Given the description of an element on the screen output the (x, y) to click on. 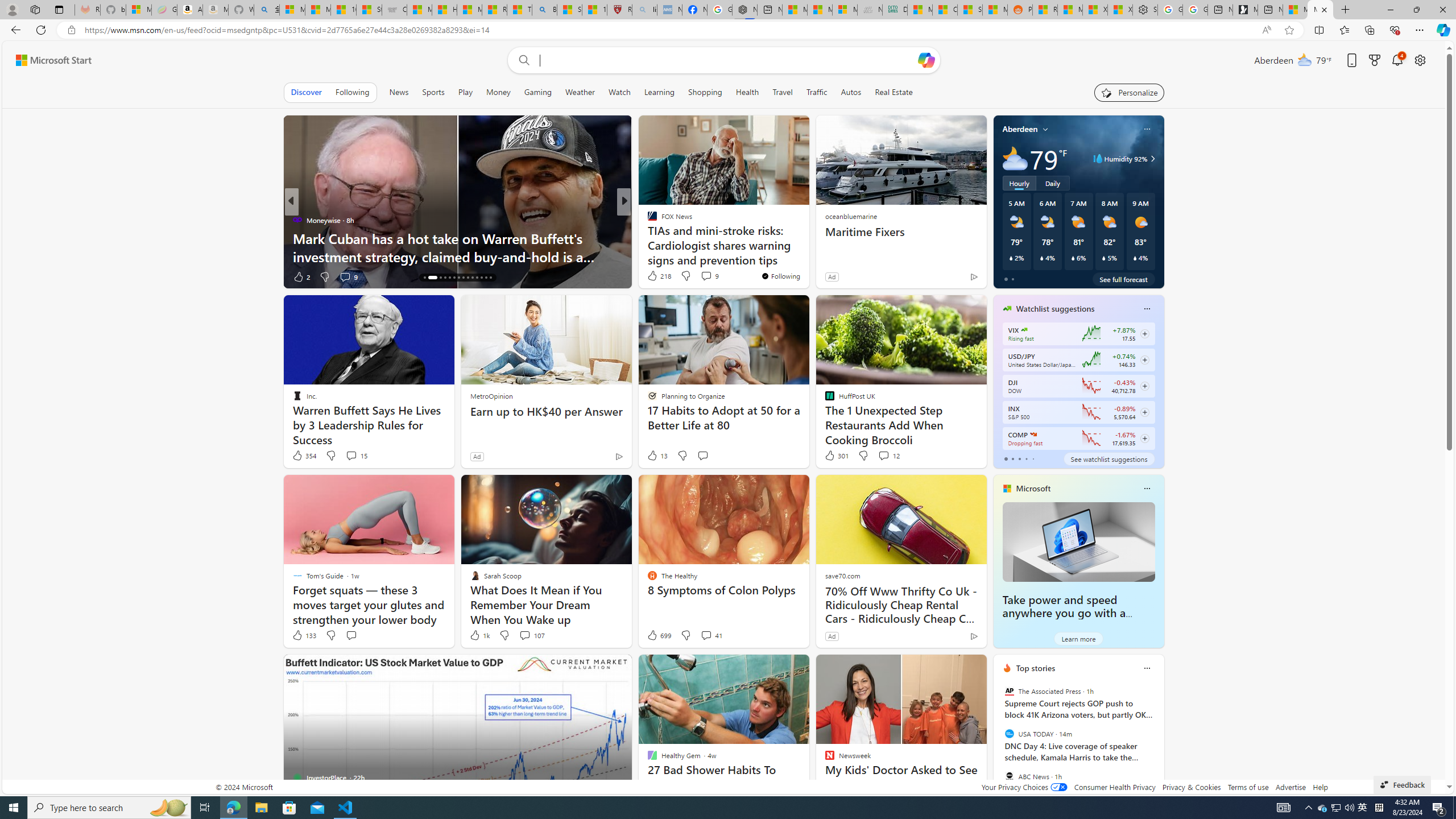
NASDAQ (1032, 434)
Maritime Fixers (900, 232)
Earn up to HK$40 per Answer (546, 411)
2024 Promotion - Book Here (807, 256)
